Given the description of an element on the screen output the (x, y) to click on. 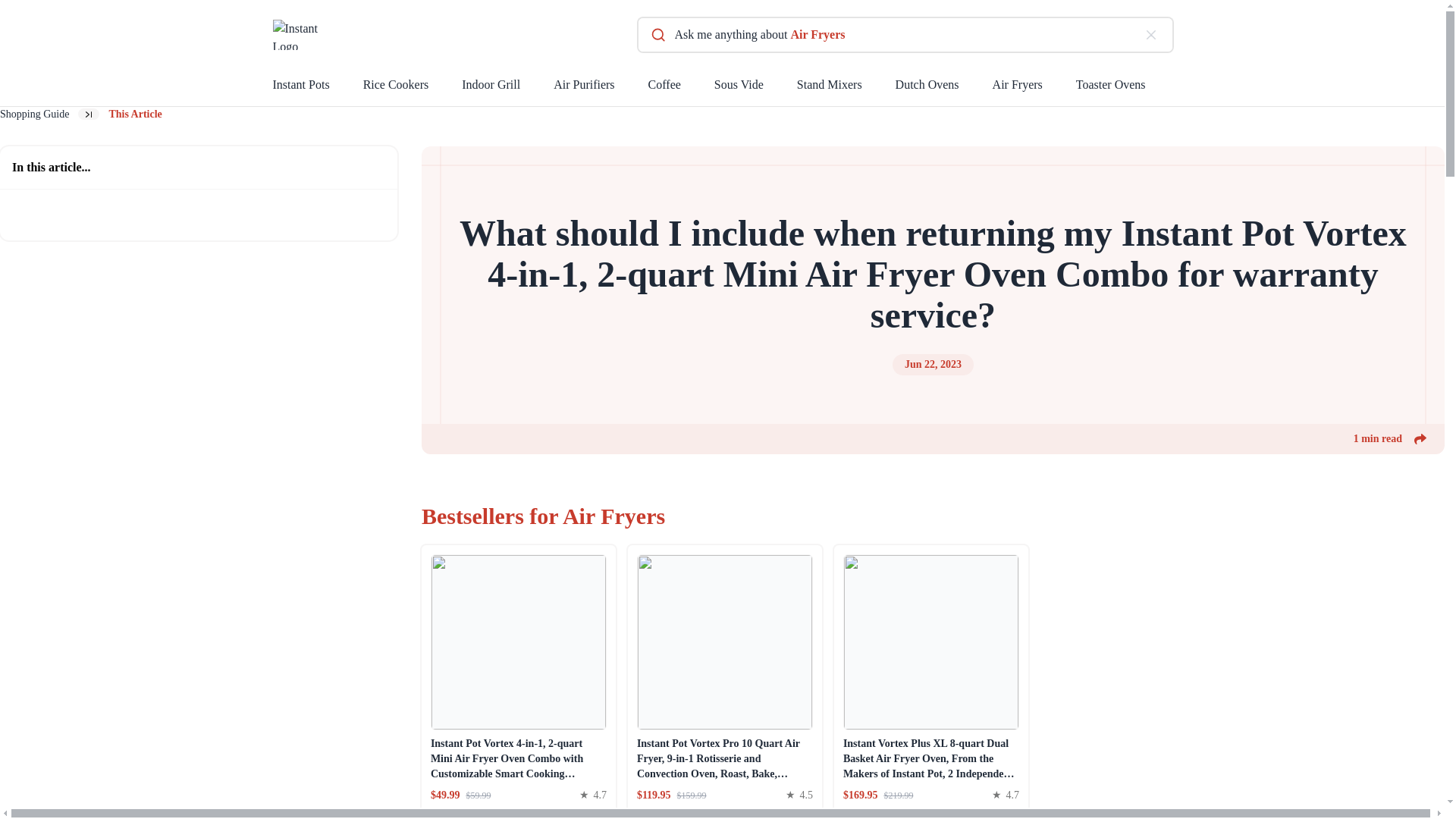
Toaster Ovens (1127, 87)
Stand Mixers (845, 87)
Shop (485, 814)
Instant Pots (317, 87)
Shopping Guide (34, 114)
Sous Vide (755, 87)
Shop (692, 814)
Dutch Ovens (943, 87)
Coffee (680, 87)
Air Purifiers (600, 87)
Air Fryers (1033, 87)
Rice Cookers (412, 87)
Indoor Grill (507, 87)
